Given the description of an element on the screen output the (x, y) to click on. 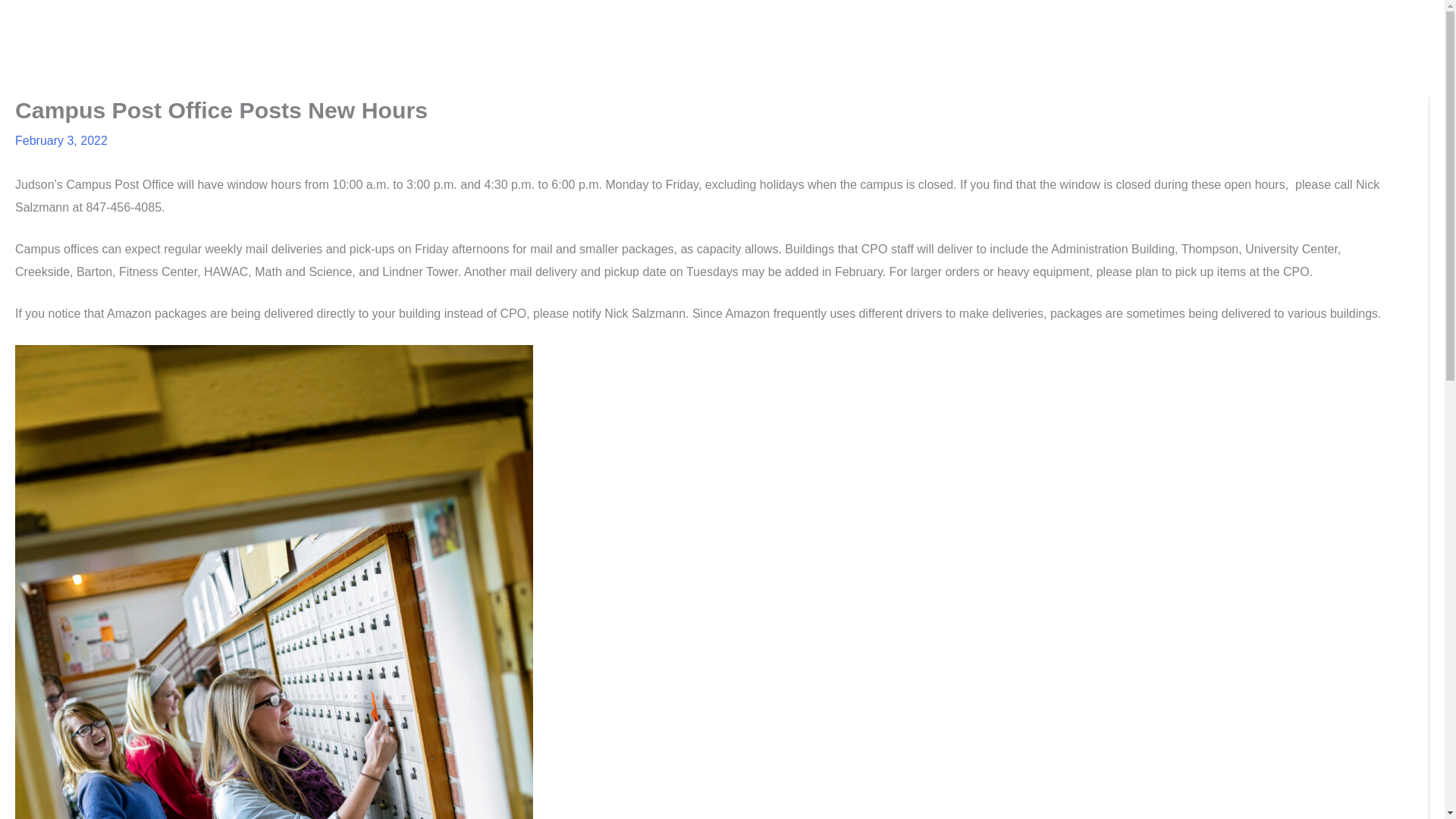
RECENT STORIES (897, 24)
HELPFUL LINKS (1262, 24)
BIRTHDAYS (1006, 24)
JUDSONU.EDU (1374, 24)
ATHLETICS SCHEDULE (1128, 24)
HOME (804, 24)
